Given the description of an element on the screen output the (x, y) to click on. 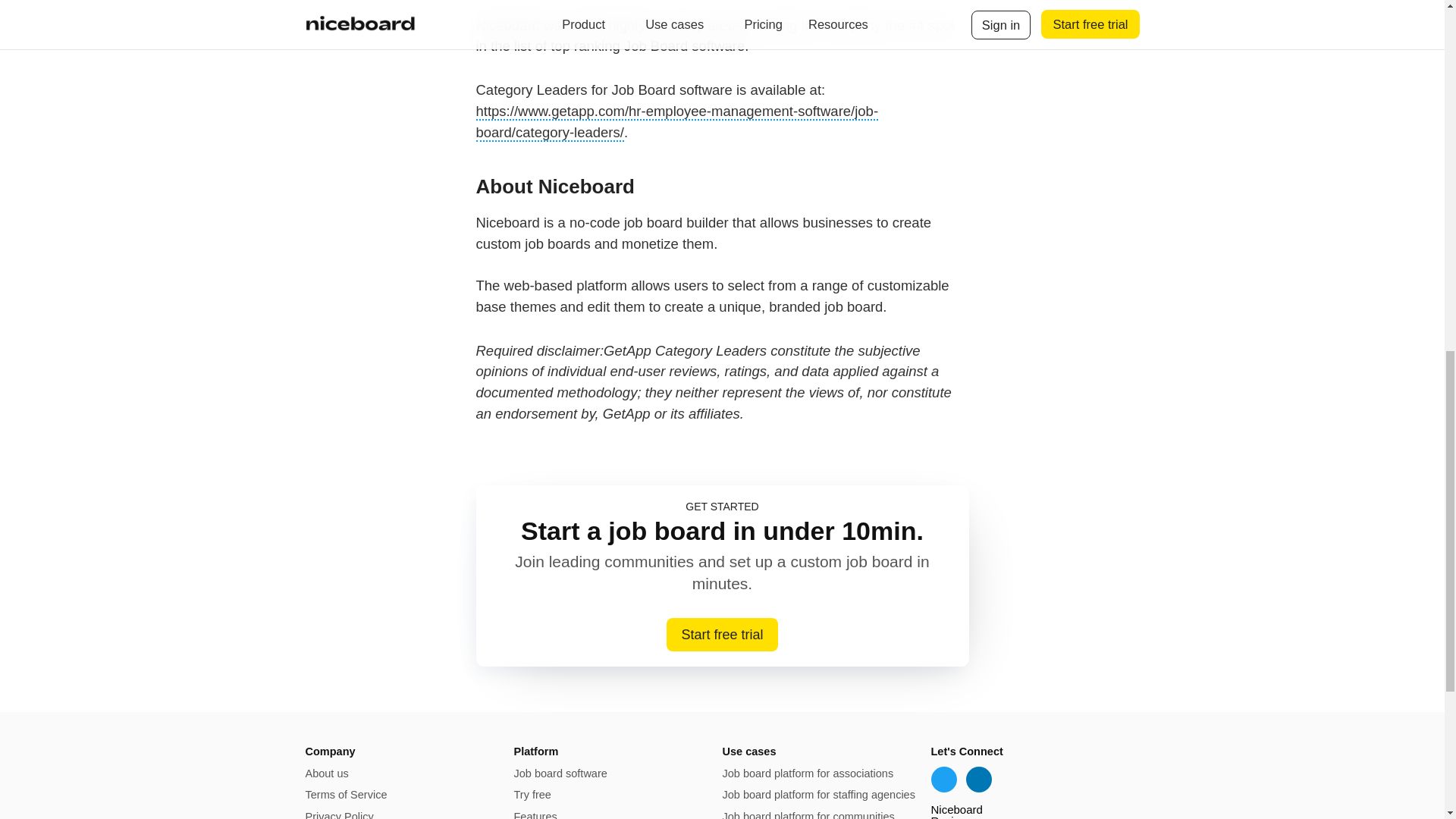
Try free (532, 794)
About us (325, 773)
Job board software (560, 773)
Job board platform for associations (807, 773)
Privacy Policy (338, 814)
Terms of Service (345, 794)
Start free trial (721, 634)
Features (535, 814)
